Given the description of an element on the screen output the (x, y) to click on. 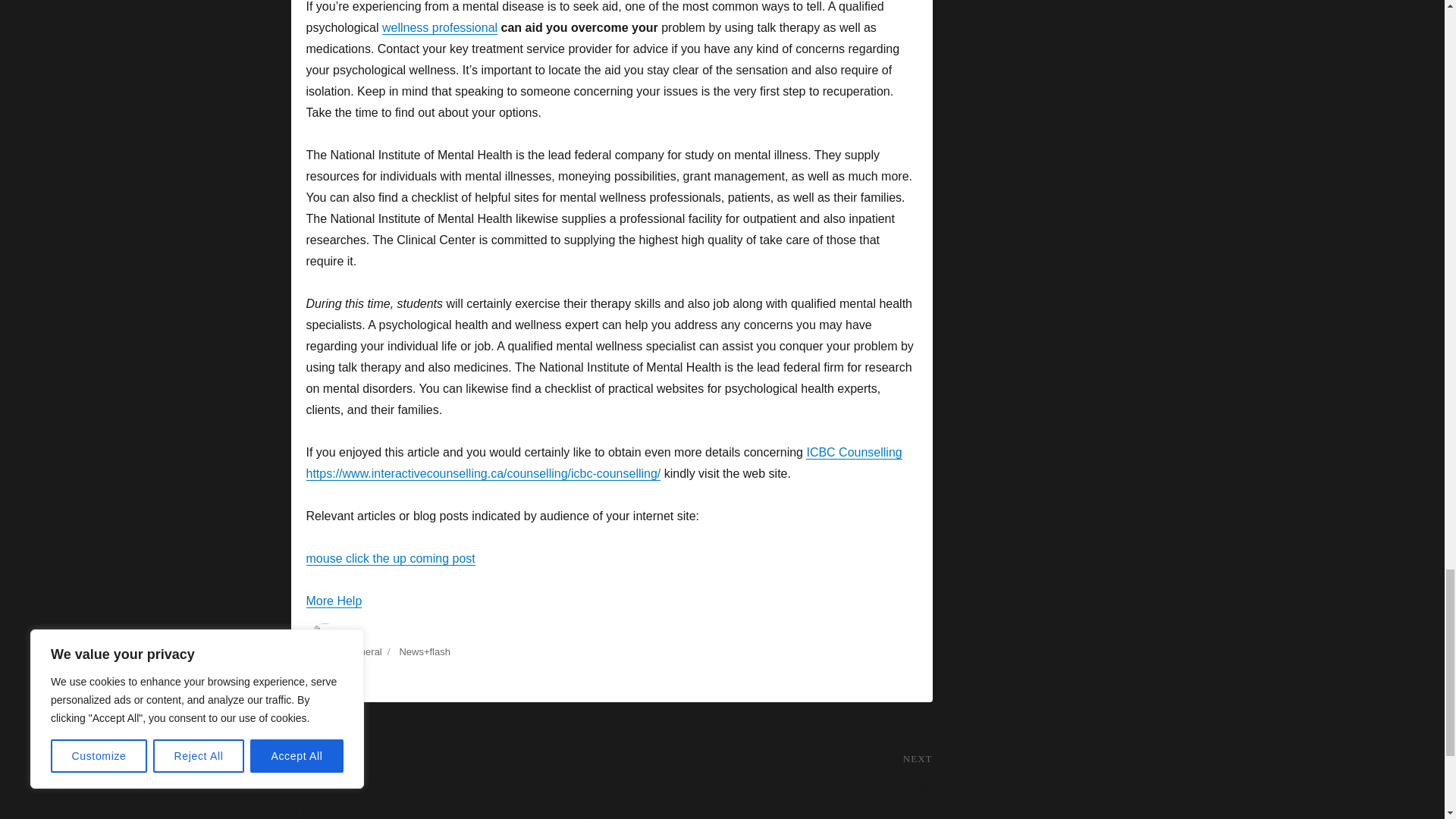
wellness professional (439, 27)
More Help (771, 774)
mouse click the up coming post (333, 600)
General (390, 558)
